Given the description of an element on the screen output the (x, y) to click on. 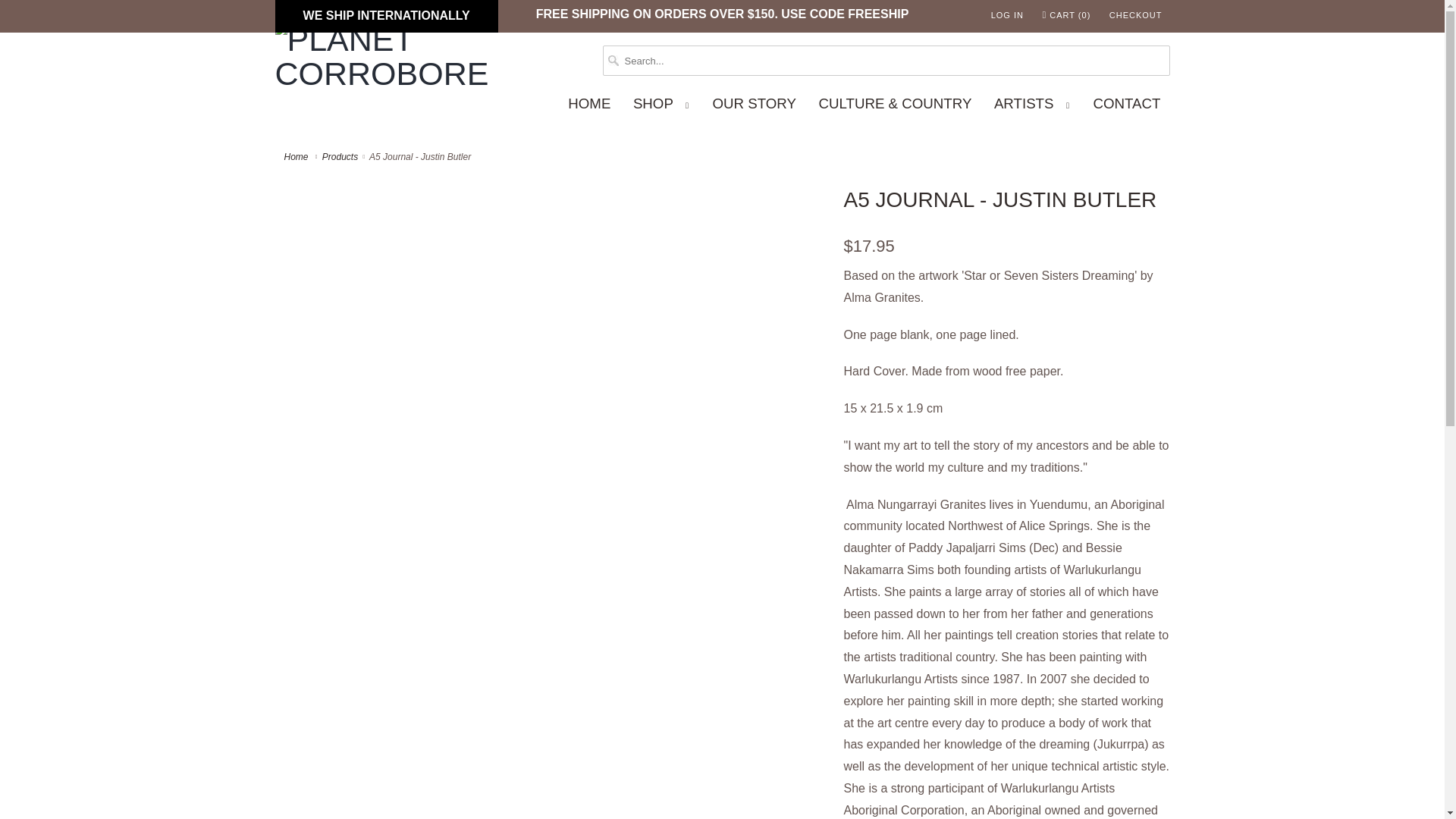
Products (339, 156)
HOME (589, 104)
LOG IN (1007, 15)
Planet Corroboree (296, 156)
CHECKOUT (1135, 15)
SHOP  (661, 104)
Planet Corroboree (380, 56)
